Given the description of an element on the screen output the (x, y) to click on. 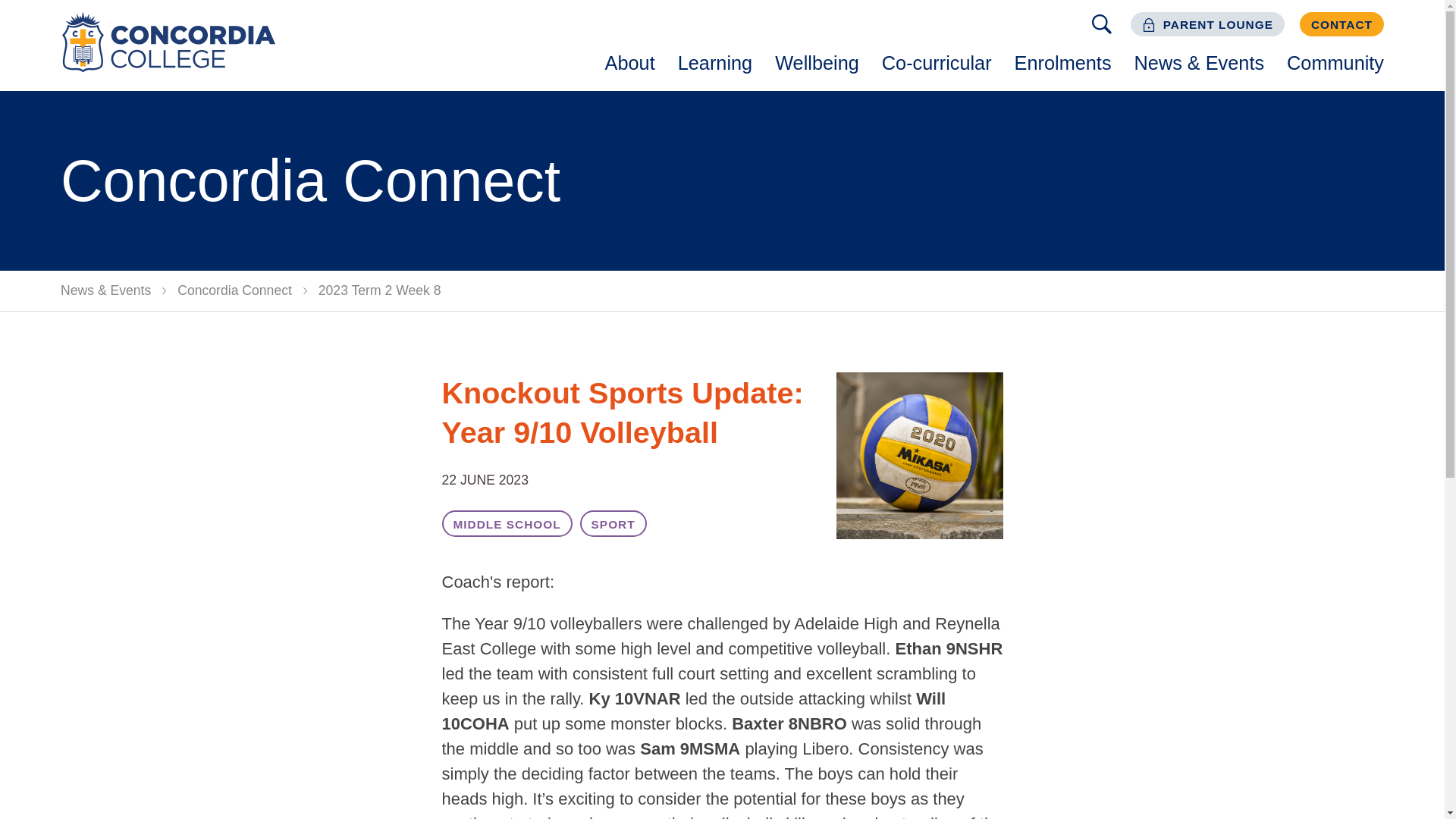
Co-curricular (936, 63)
CONTACT (1342, 24)
Learning (714, 63)
SPORT (612, 523)
Wellbeing (816, 63)
2023 Term 2 Week 8 (379, 291)
PARENT LOUNGE (1207, 24)
Concordia Connect (233, 291)
Community (1334, 63)
Enrolments (1062, 63)
SEARCH (1101, 24)
MIDDLE SCHOOL (506, 523)
About (630, 63)
